Given the description of an element on the screen output the (x, y) to click on. 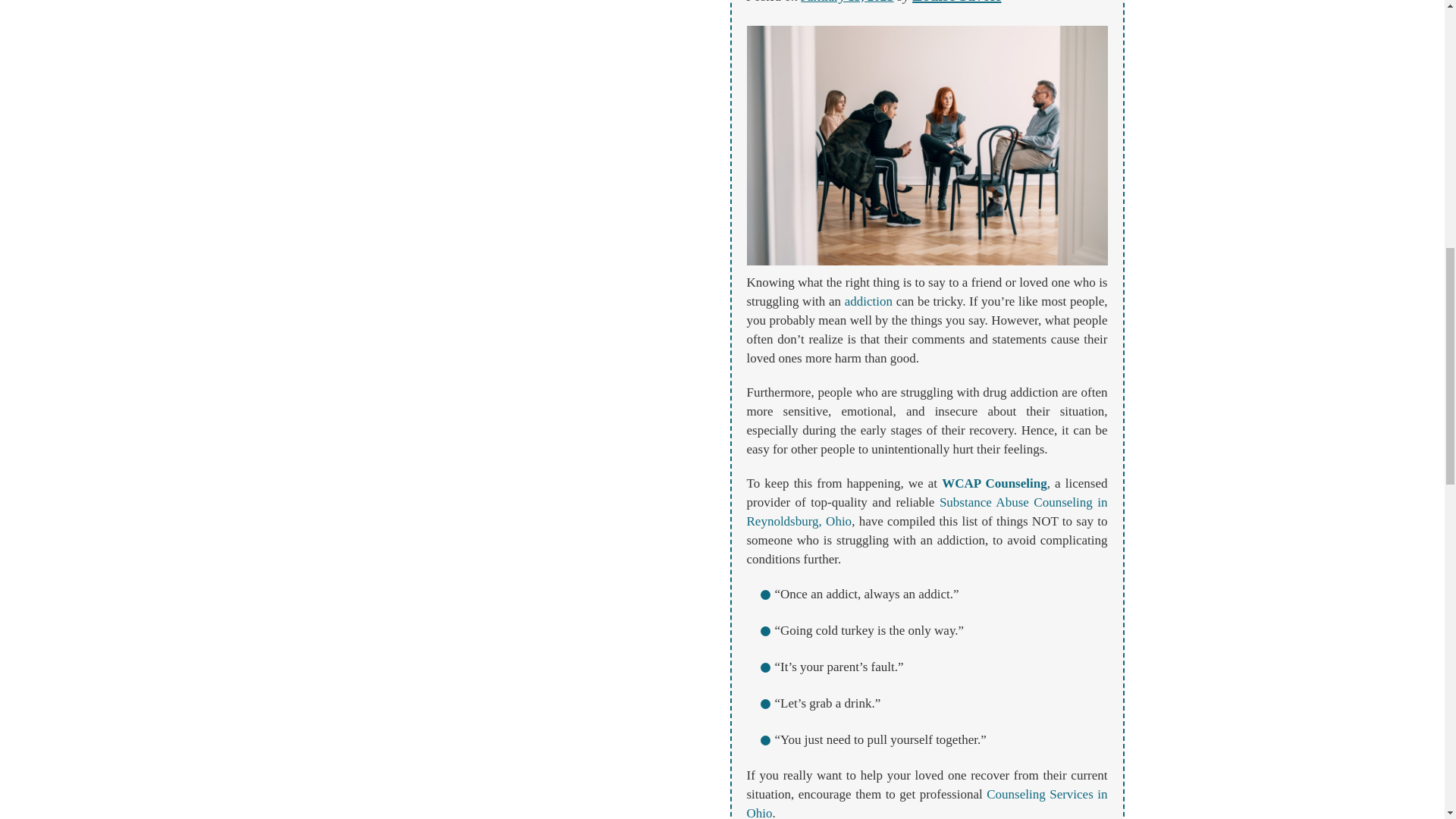
Substance Abuse Counseling in Reynoldsburg, Ohio (925, 511)
January 13, 2021 (846, 2)
addiction (868, 301)
Louise Savoie (956, 2)
9:20 am (846, 2)
View all posts by Louise Savoie (956, 2)
Counseling Services in Ohio (925, 803)
